Given the description of an element on the screen output the (x, y) to click on. 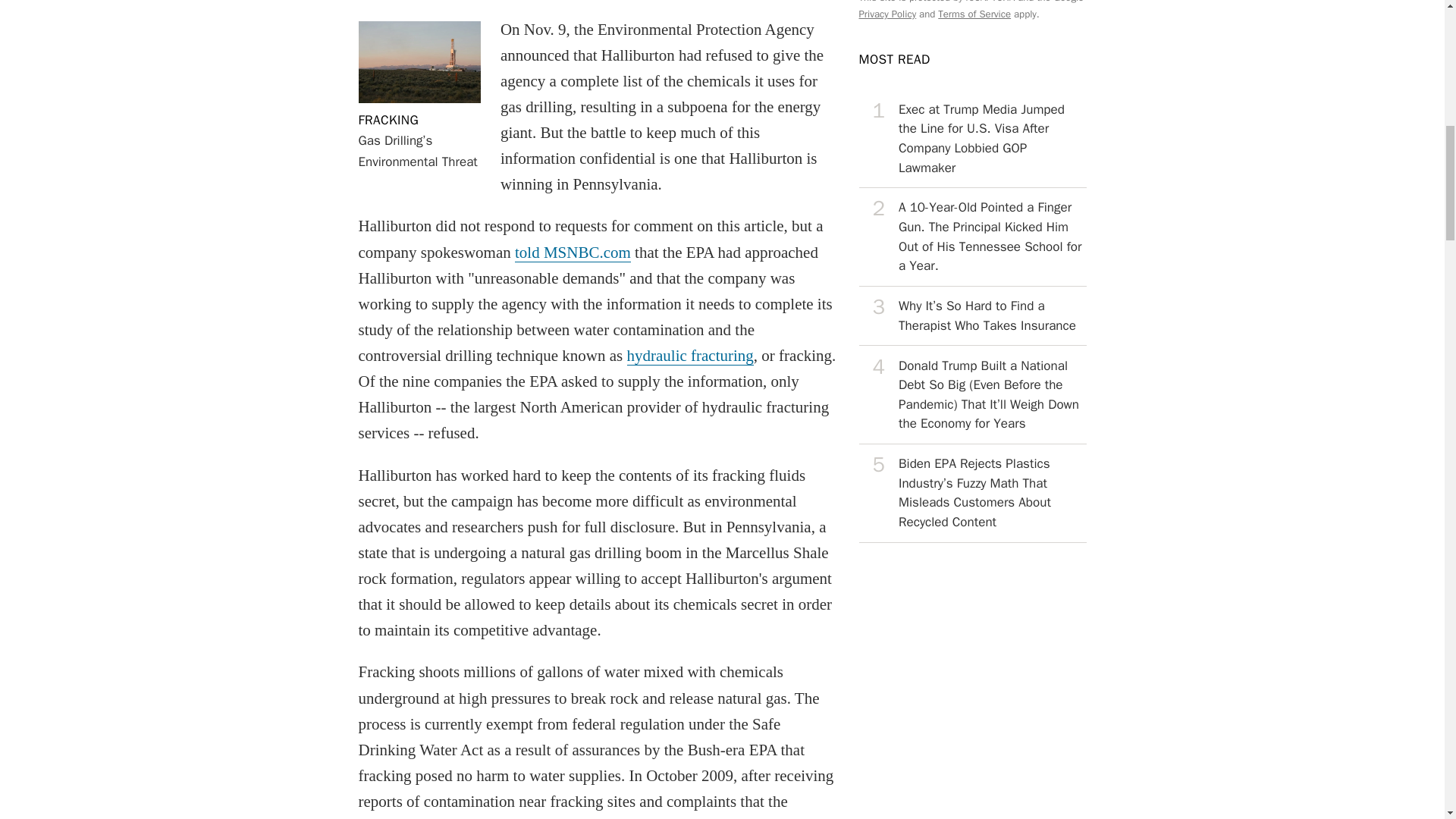
View this (388, 120)
View this (972, 139)
View this (972, 237)
View this (972, 394)
hydraulic fracturing (972, 493)
told MSNBC.com (689, 355)
View this (572, 252)
